Given the description of an element on the screen output the (x, y) to click on. 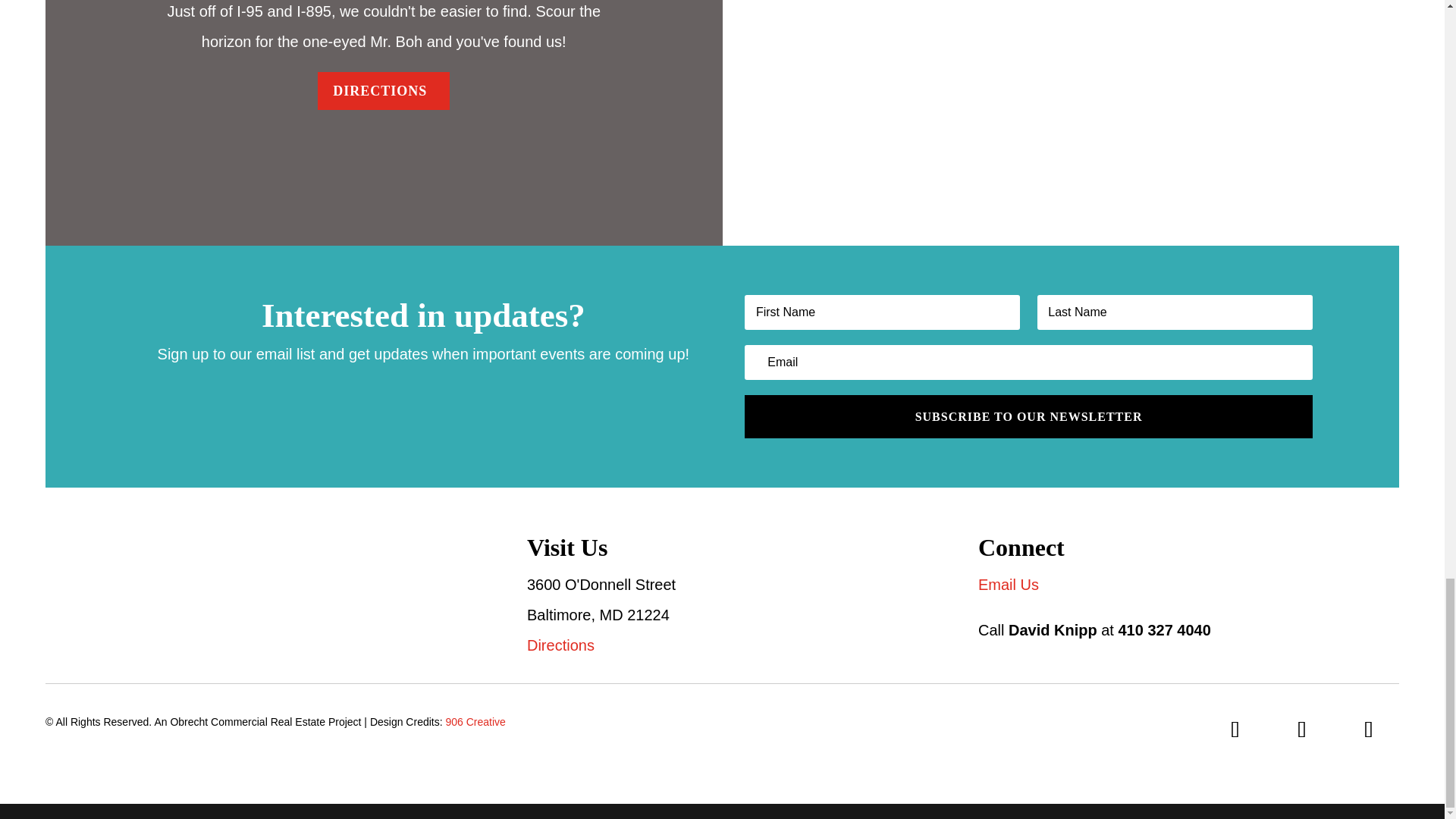
Directions (560, 645)
DIRECTIONS (383, 91)
SUBSCRIBE TO OUR NEWSLETTER (1027, 416)
Follow on X (1368, 729)
Email Us (1008, 584)
Follow on Facebook (1234, 729)
Follow on Instagram (1301, 729)
906 Creative (475, 721)
